Given the description of an element on the screen output the (x, y) to click on. 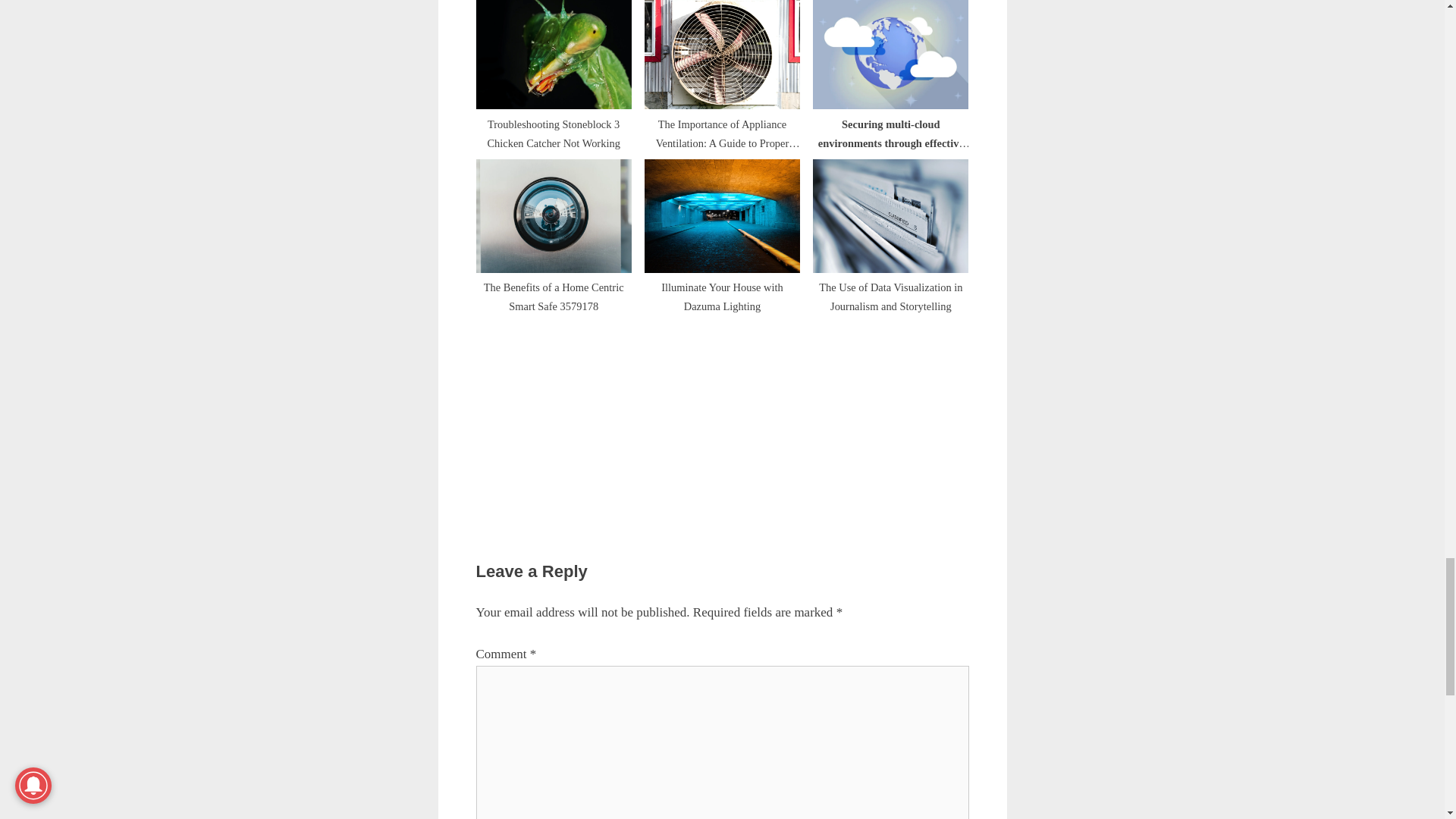
The Benefits of a Home Centric Smart Safe 3579178 (553, 230)
Troubleshooting Stoneblock 3 Chicken Catcher Not Working (553, 69)
Illuminate Your House with Dazuma Lighting (722, 230)
The Use of Data Visualization in Journalism and Storytelling (890, 230)
